Given the description of an element on the screen output the (x, y) to click on. 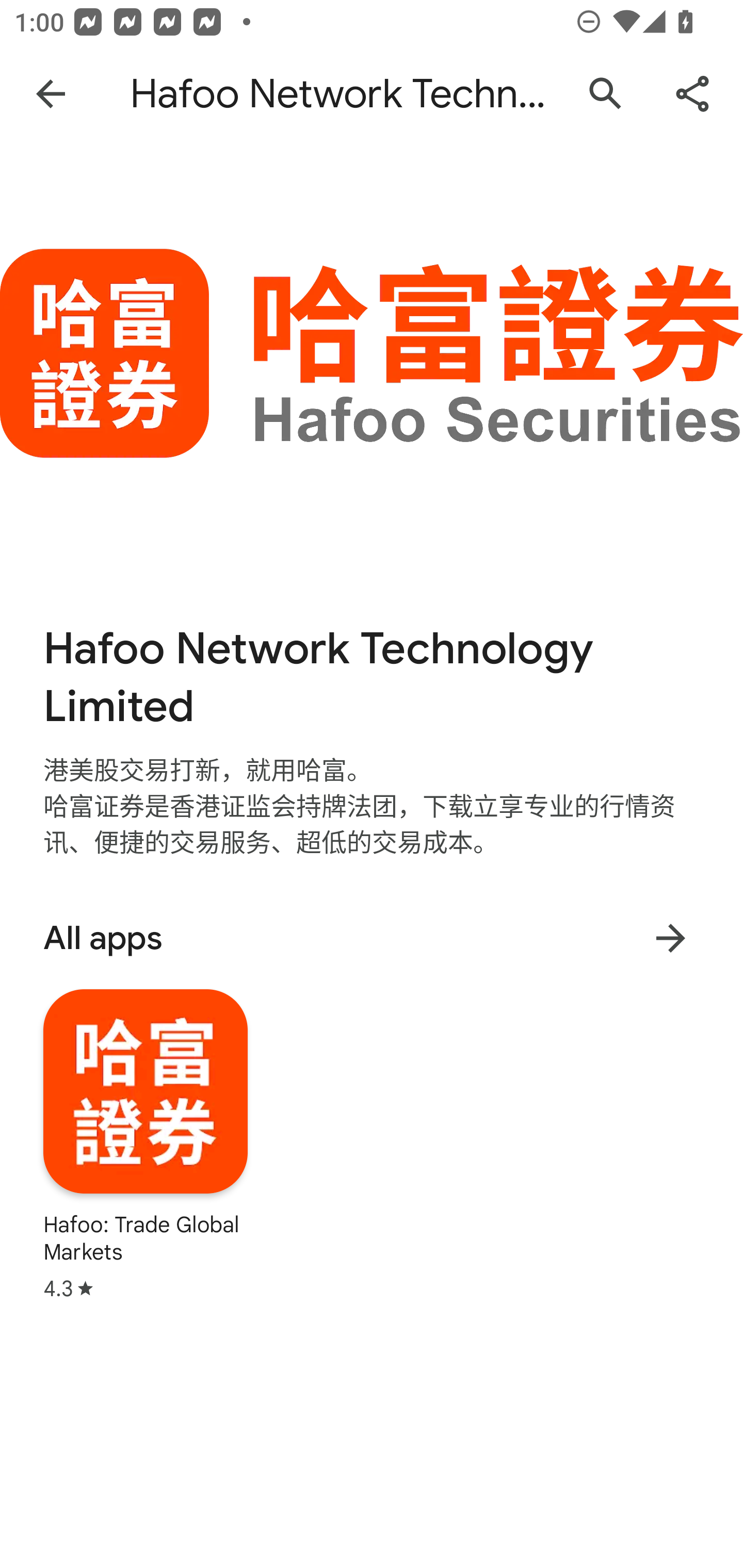
Navigate up (50, 93)
Search Google Play (605, 93)
Share (692, 93)
All apps More results for All apps (371, 938)
More results for All apps (670, 938)
Hafoo: Trade Global Markets
Star rating: 4.3
 (145, 1144)
